Given the description of an element on the screen output the (x, y) to click on. 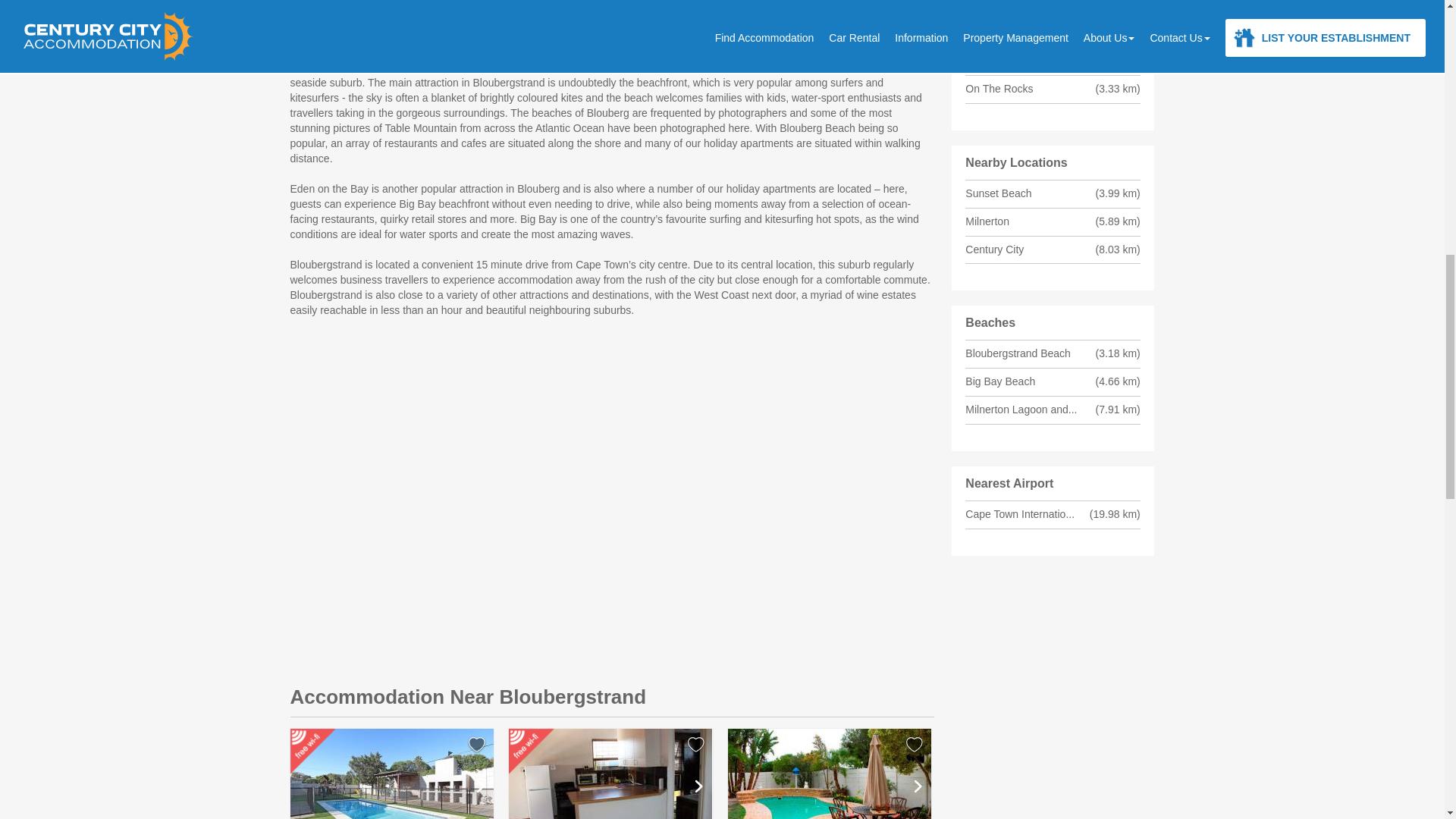
Free Wi-Fi (314, 752)
add to favourites (695, 744)
add to favourites (476, 744)
add to favourites (476, 744)
add to favourites (695, 744)
Free Wi-Fi (532, 752)
add to favourites (914, 744)
add to favourites (914, 744)
